Given the description of an element on the screen output the (x, y) to click on. 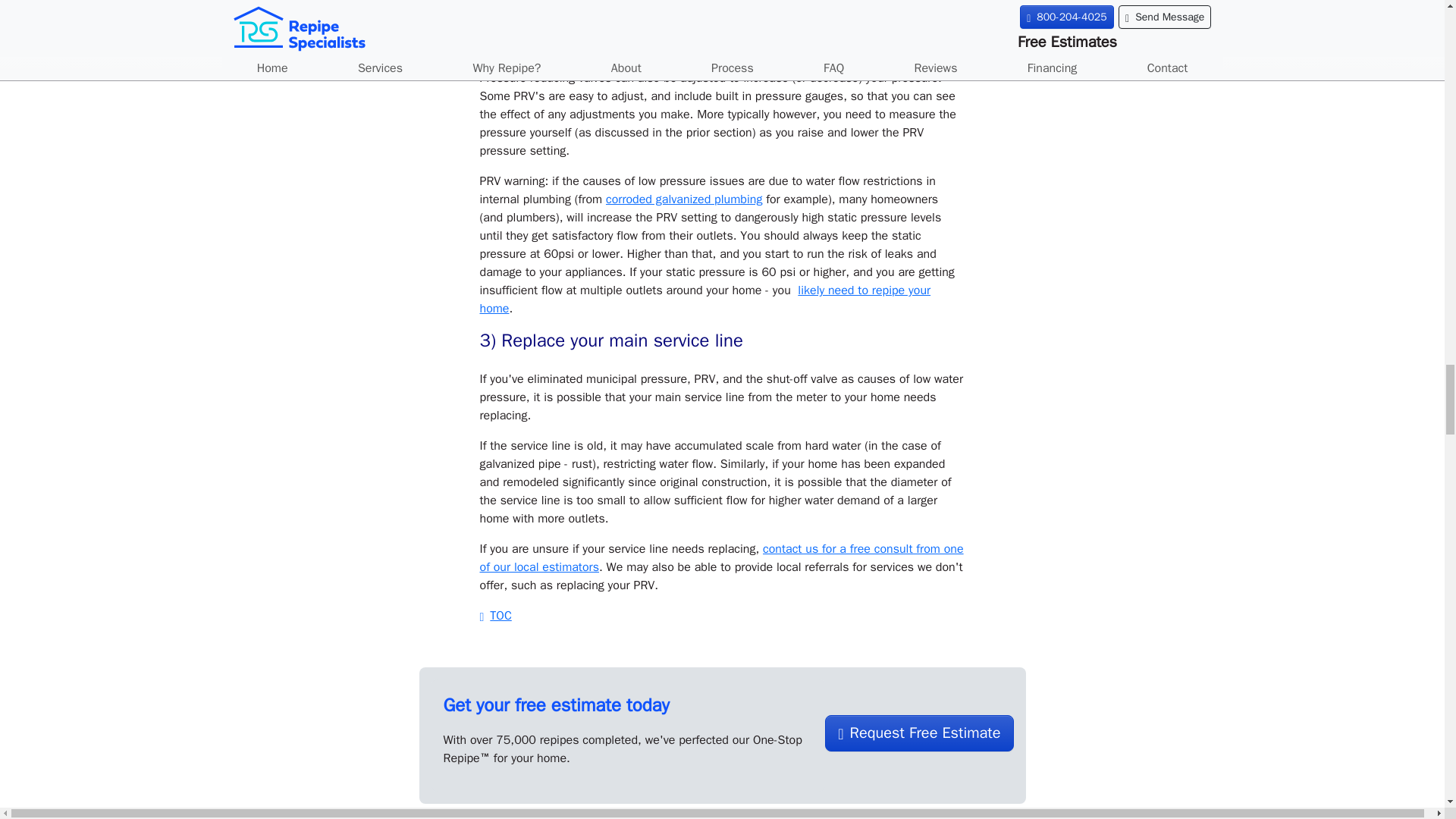
corroded galvanized plumbing (683, 199)
Request Free Estimate (919, 732)
TOC (495, 615)
likely need to repipe your home (704, 299)
